Given the description of an element on the screen output the (x, y) to click on. 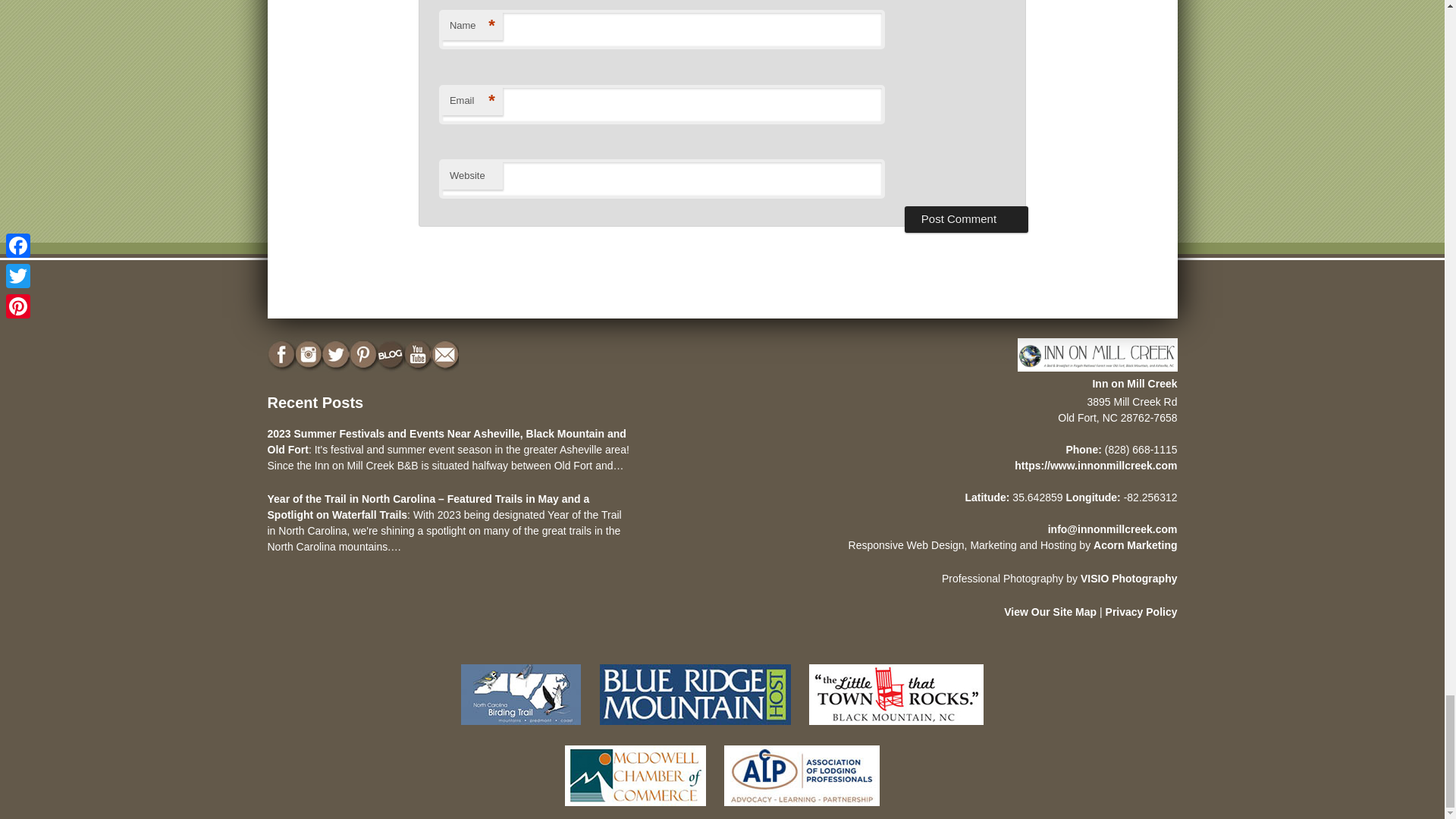
View our YouTube Channel (418, 355)
Pin us on Pinterest (363, 355)
E-Mail Us (445, 355)
Like us on Facebook (281, 355)
Post Comment (965, 218)
Read our Blog (390, 355)
Instagram (309, 355)
Follow us on Twitter (336, 355)
